Given the description of an element on the screen output the (x, y) to click on. 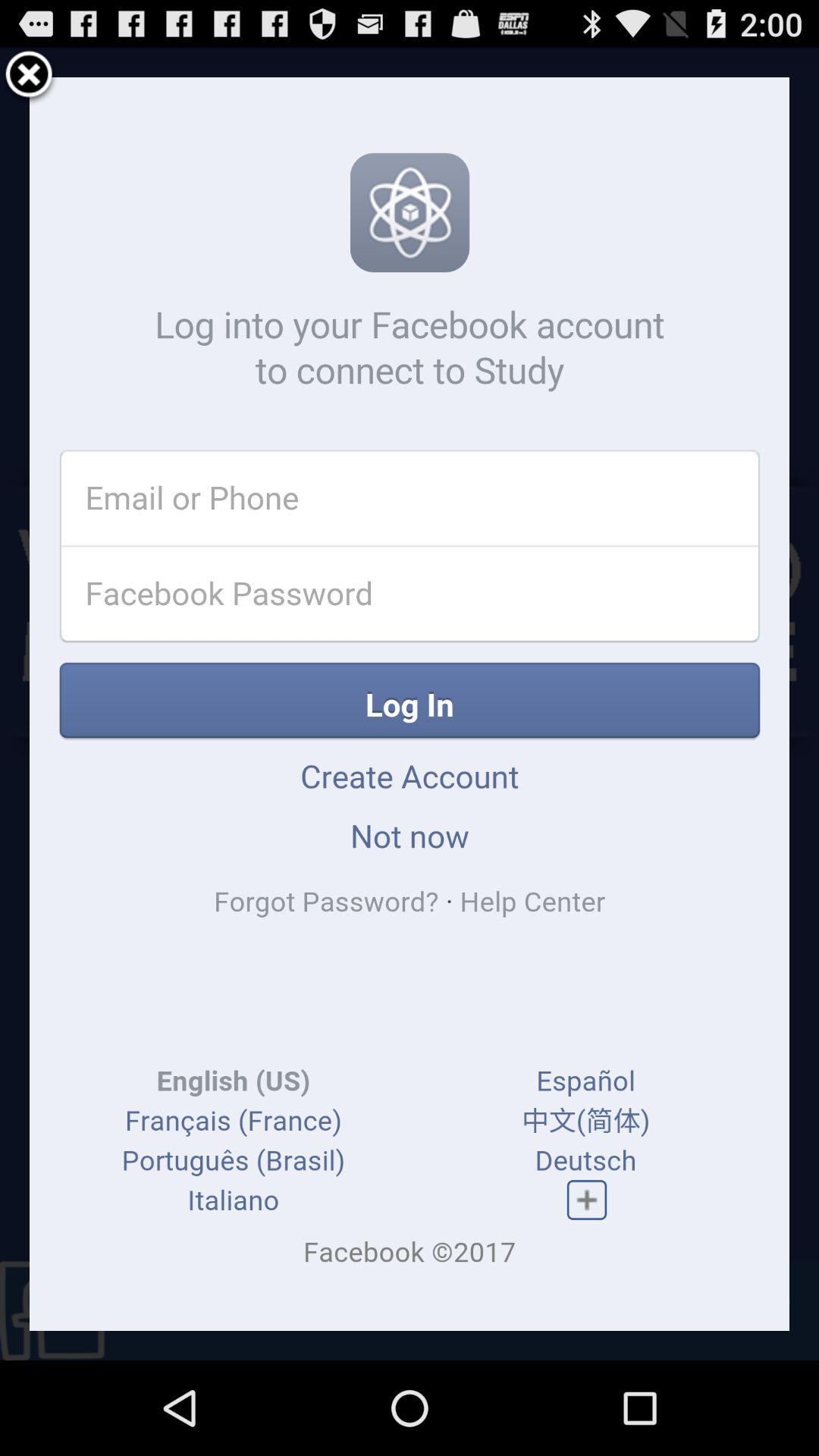
exit (29, 76)
